Given the description of an element on the screen output the (x, y) to click on. 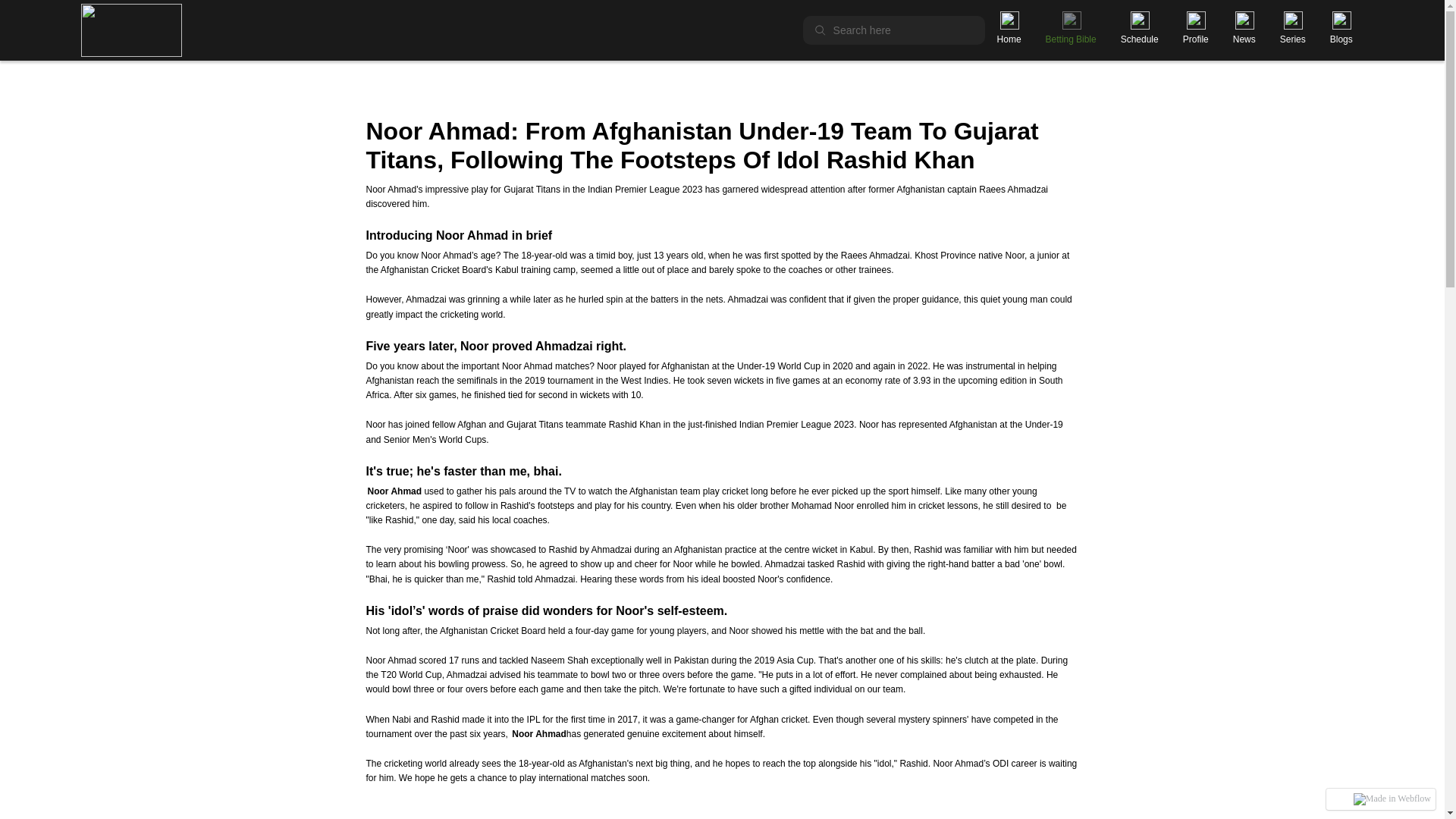
Noor Ahmad (394, 491)
Series (1292, 39)
Search (28, 15)
Noor Ahmad (539, 734)
BettingBible (1070, 39)
News (1244, 39)
Schedule (1139, 39)
Profile (1195, 39)
Home (1009, 39)
Blogs (1340, 39)
